Given the description of an element on the screen output the (x, y) to click on. 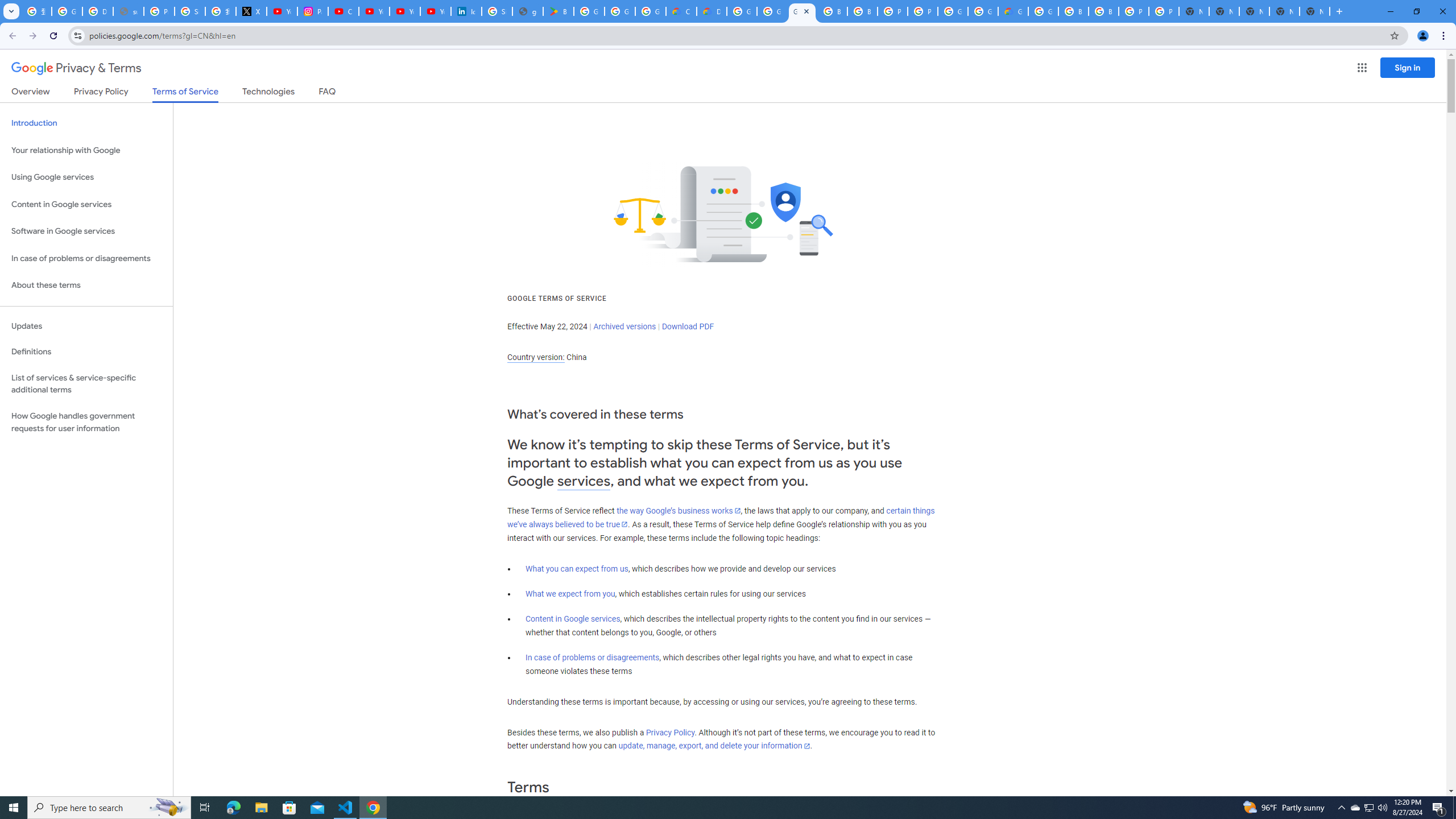
Your relationship with Google (86, 150)
Google Workspace - Specific Terms (650, 11)
Country version: (535, 357)
YouTube Culture & Trends - YouTube Top 10, 2021 (404, 11)
List of services & service-specific additional terms (86, 383)
How Google handles government requests for user information (86, 422)
Content in Google services (572, 618)
